Given the description of an element on the screen output the (x, y) to click on. 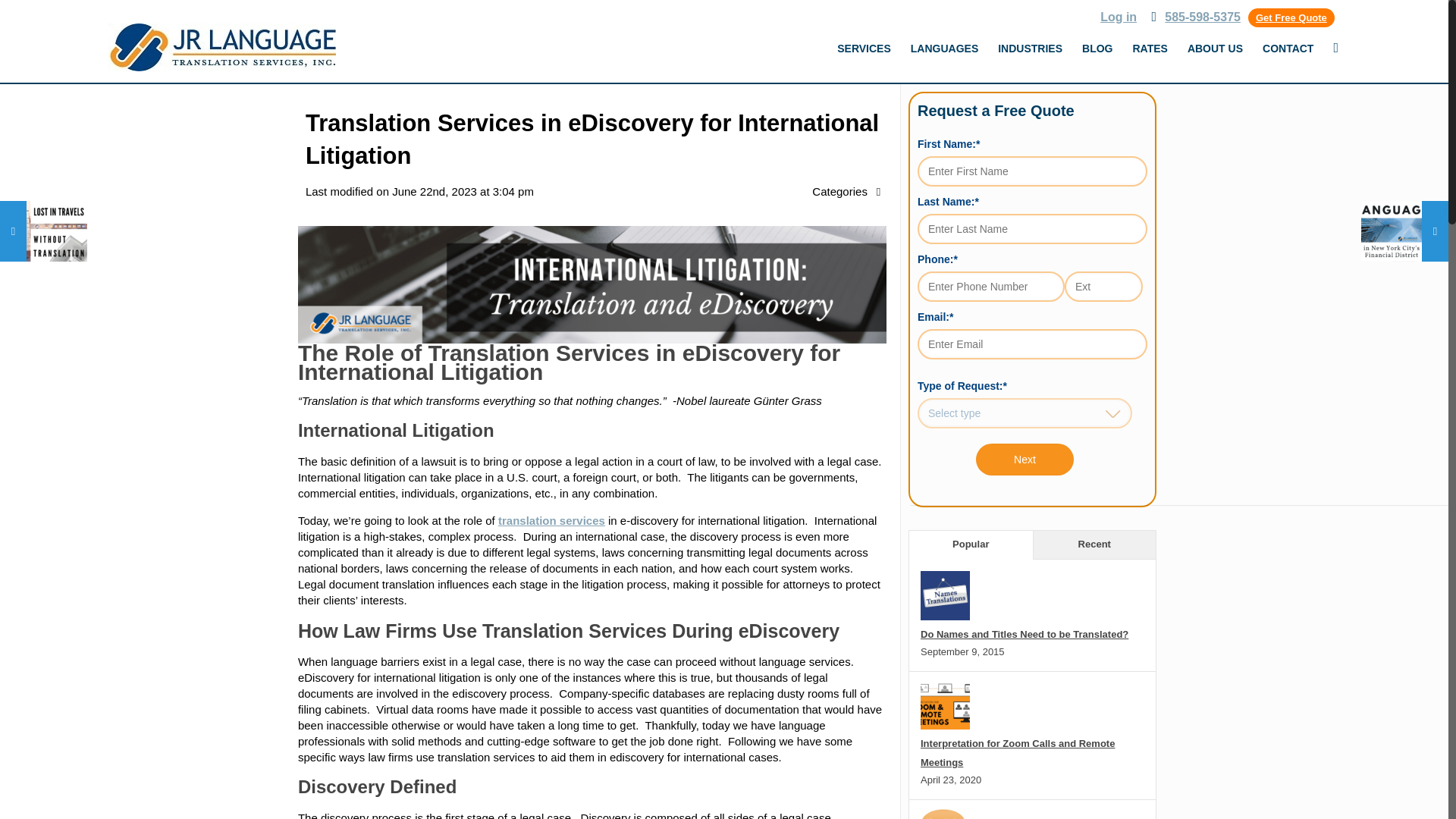
585-598-5375 (1202, 16)
legal document translation ediscovery (592, 284)
SERVICES (864, 48)
Log in (1118, 16)
Interpretation for Zoom Calls and Remote Meetings (944, 726)
translation services (551, 520)
blog-english.jrlanguage.com (221, 47)
Get Free Quote (1291, 17)
LANGUAGES (944, 48)
Do Names and Titles Need to be Translated? (944, 616)
Interpretation for Zoom Calls and Remote Meetings (1017, 752)
Do Names and Titles Need to be Translated? (1024, 633)
